Given the description of an element on the screen output the (x, y) to click on. 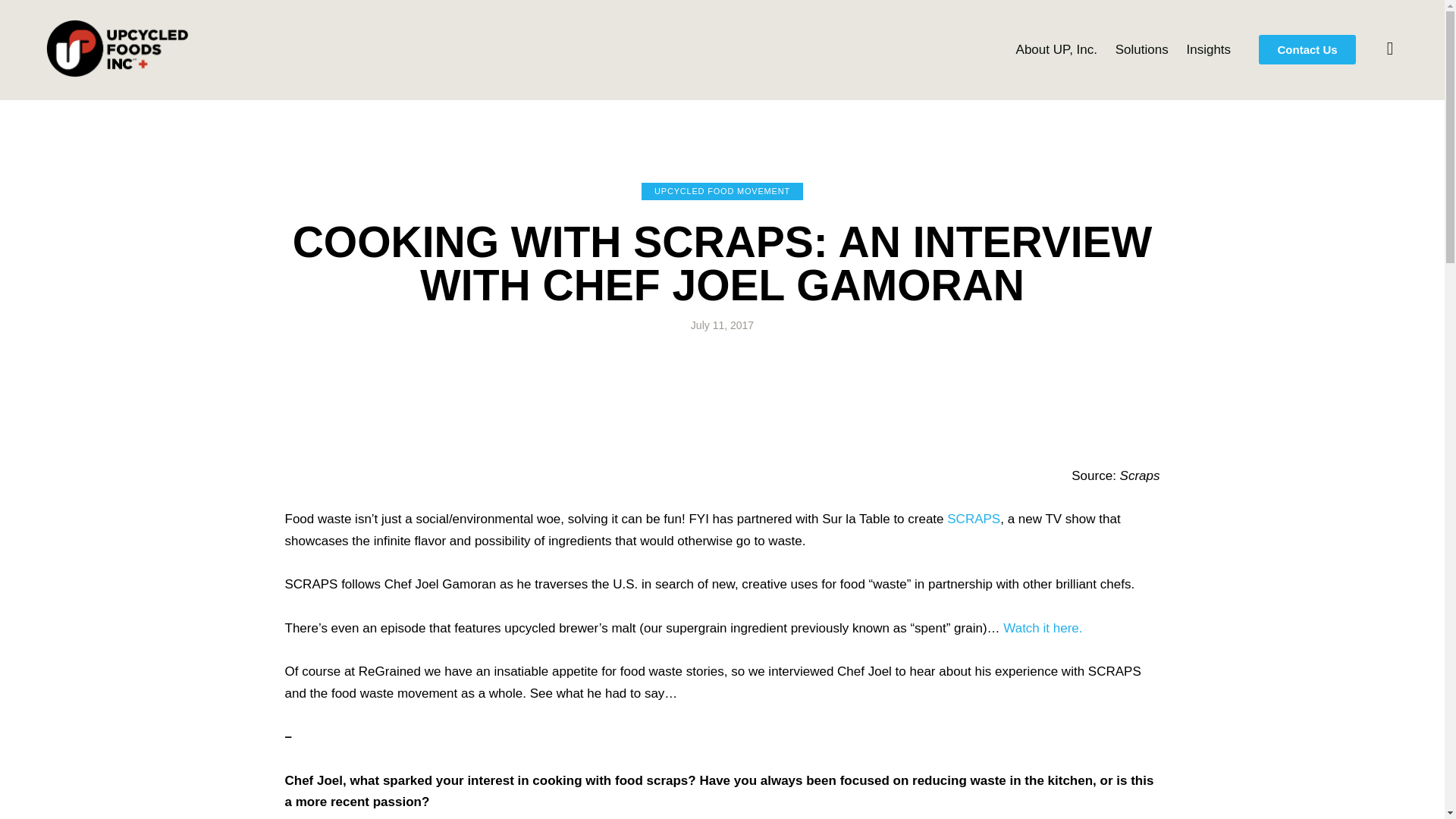
Insights (1208, 49)
Watch it here. (1042, 627)
Solutions (1141, 49)
About UP, Inc. (1056, 49)
UPCYCLED FOOD MOVEMENT (722, 190)
SCRAPS (973, 518)
Contact Us (1307, 49)
